Given the description of an element on the screen output the (x, y) to click on. 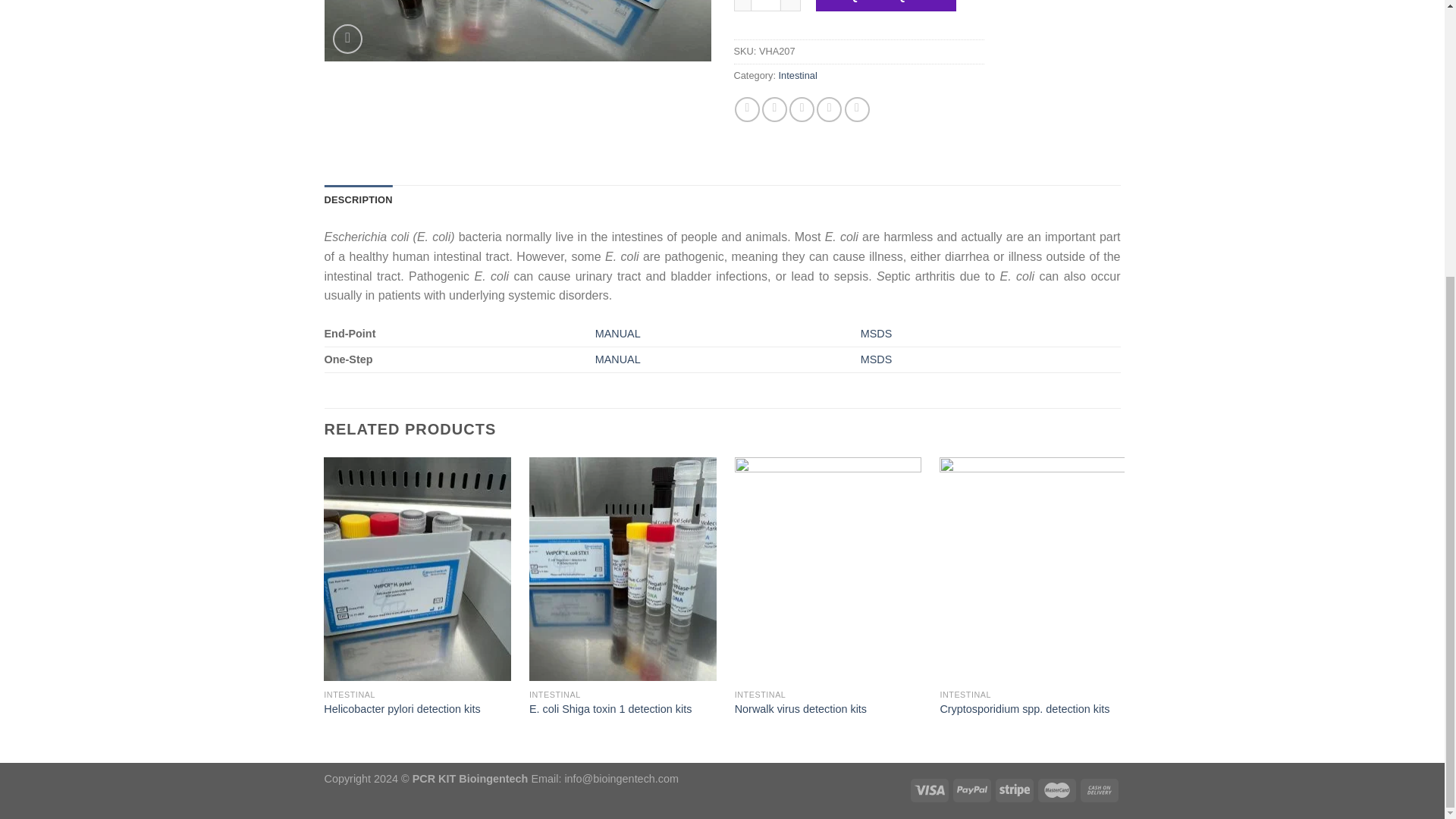
- (742, 5)
REQUEST QUOTE (885, 5)
Share on Twitter (774, 109)
1 (765, 5)
MANUAL (617, 333)
Qty (765, 5)
Intestinal (797, 75)
Zoom (347, 39)
Email to a Friend (801, 109)
MANUAL (617, 358)
